Given the description of an element on the screen output the (x, y) to click on. 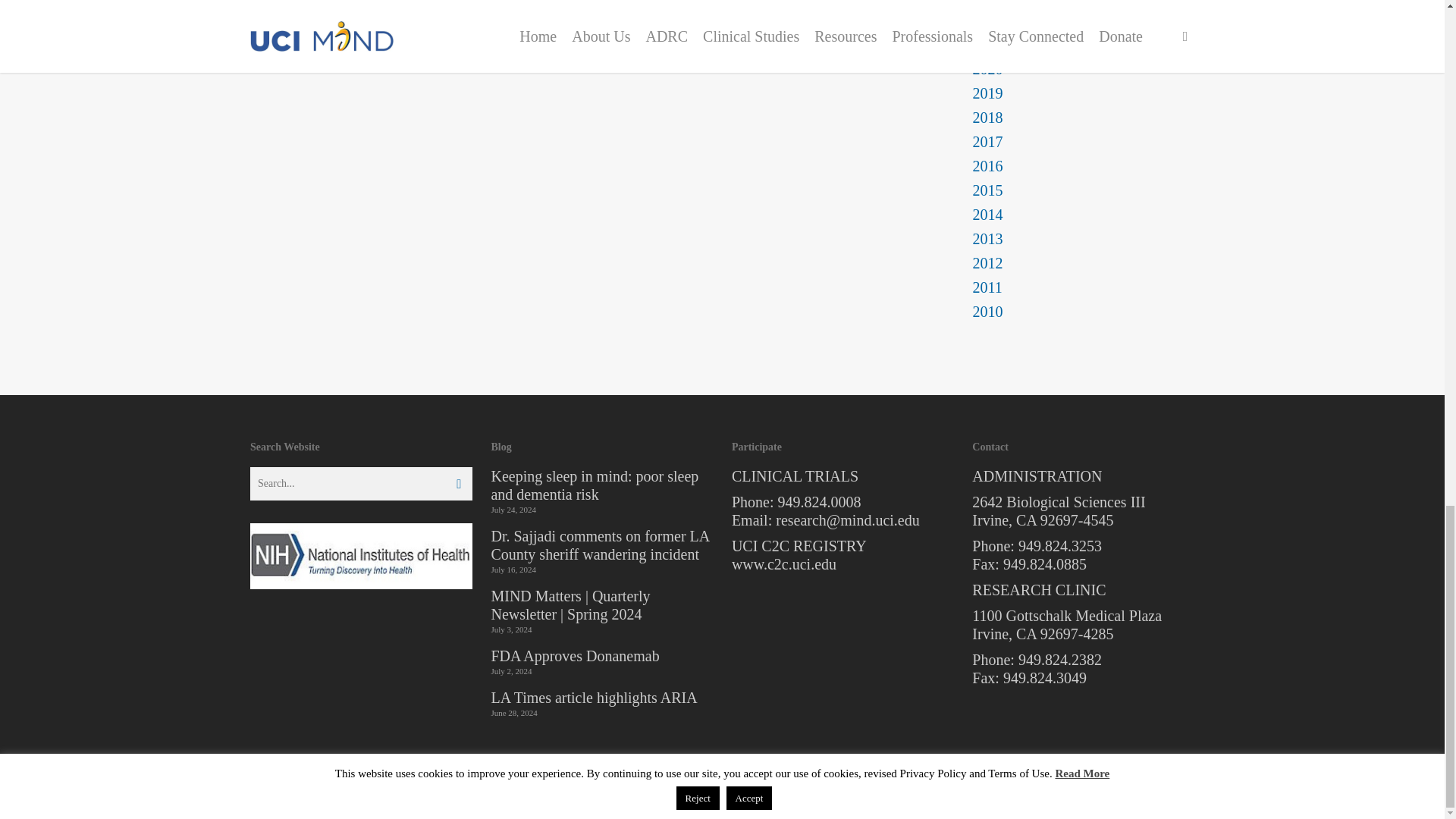
Search for: (360, 483)
